Given the description of an element on the screen output the (x, y) to click on. 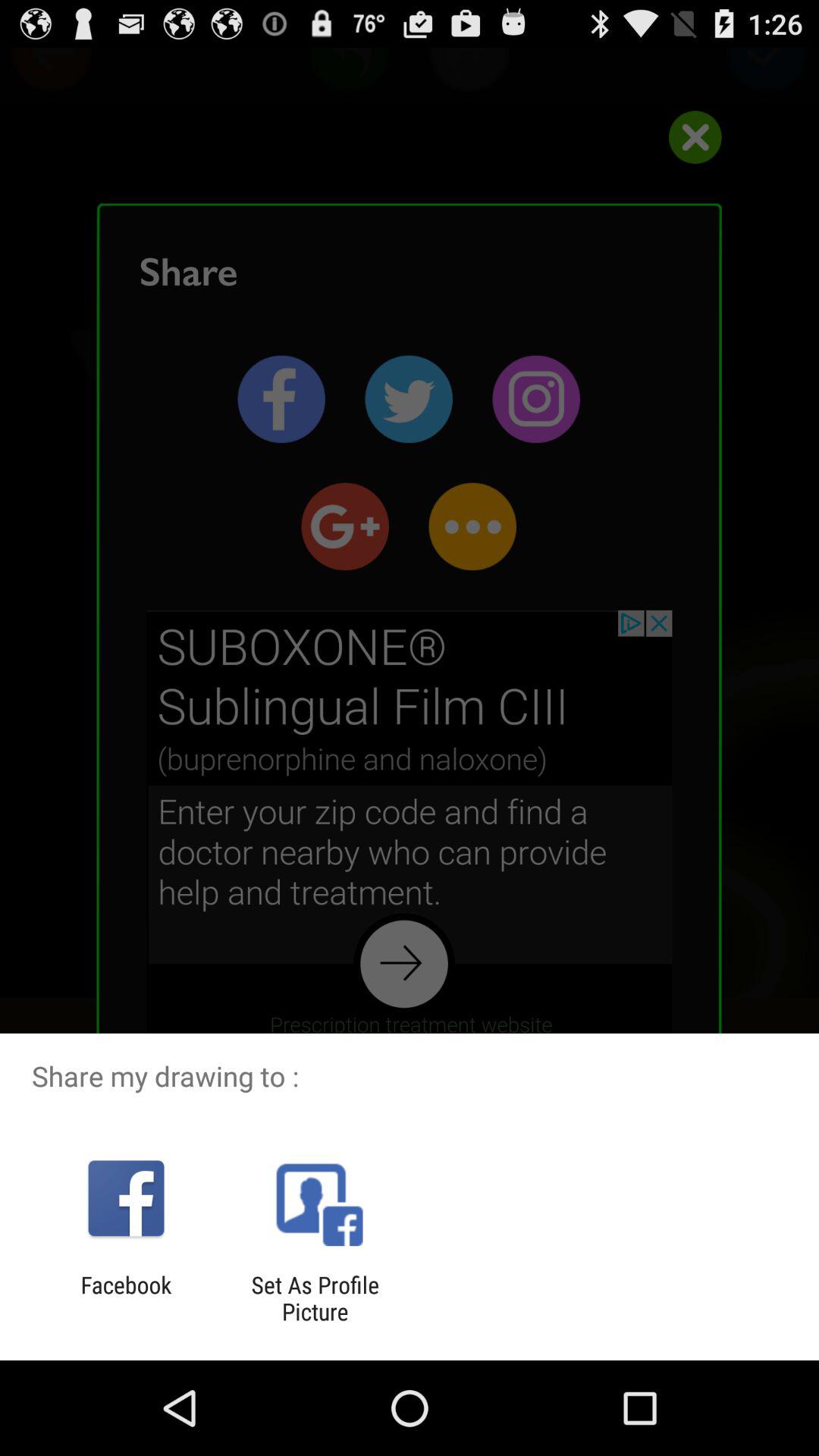
select set as profile app (314, 1298)
